Given the description of an element on the screen output the (x, y) to click on. 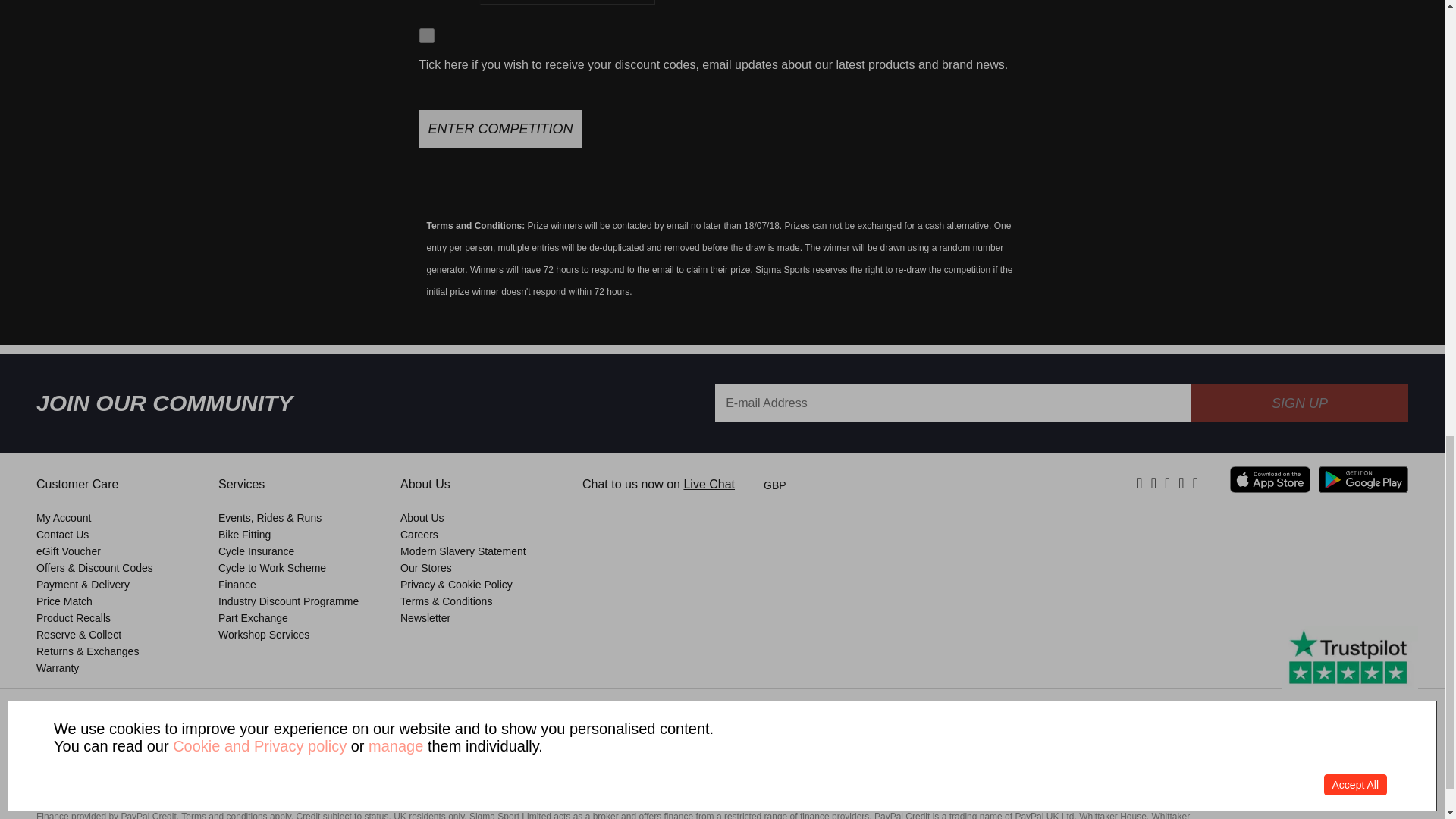
Enter Competition (499, 128)
on (426, 35)
Sign Up (1299, 403)
